Given the description of an element on the screen output the (x, y) to click on. 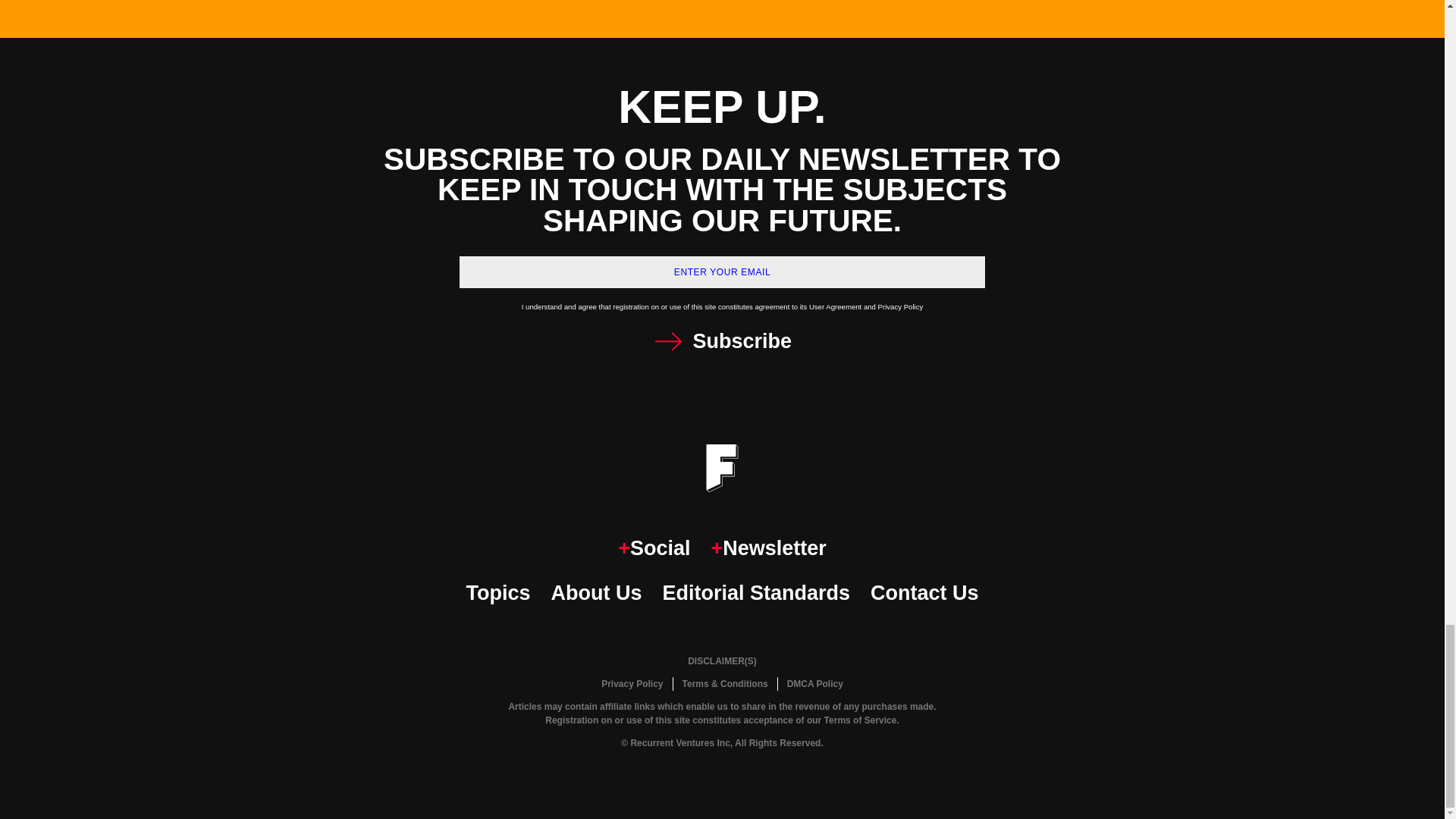
About Us (596, 593)
DMCA Policy (814, 684)
Topics (497, 593)
Subscribe (722, 341)
Privacy Policy (631, 684)
Contact Us (924, 593)
Editorial Standards (756, 593)
